Given the description of an element on the screen output the (x, y) to click on. 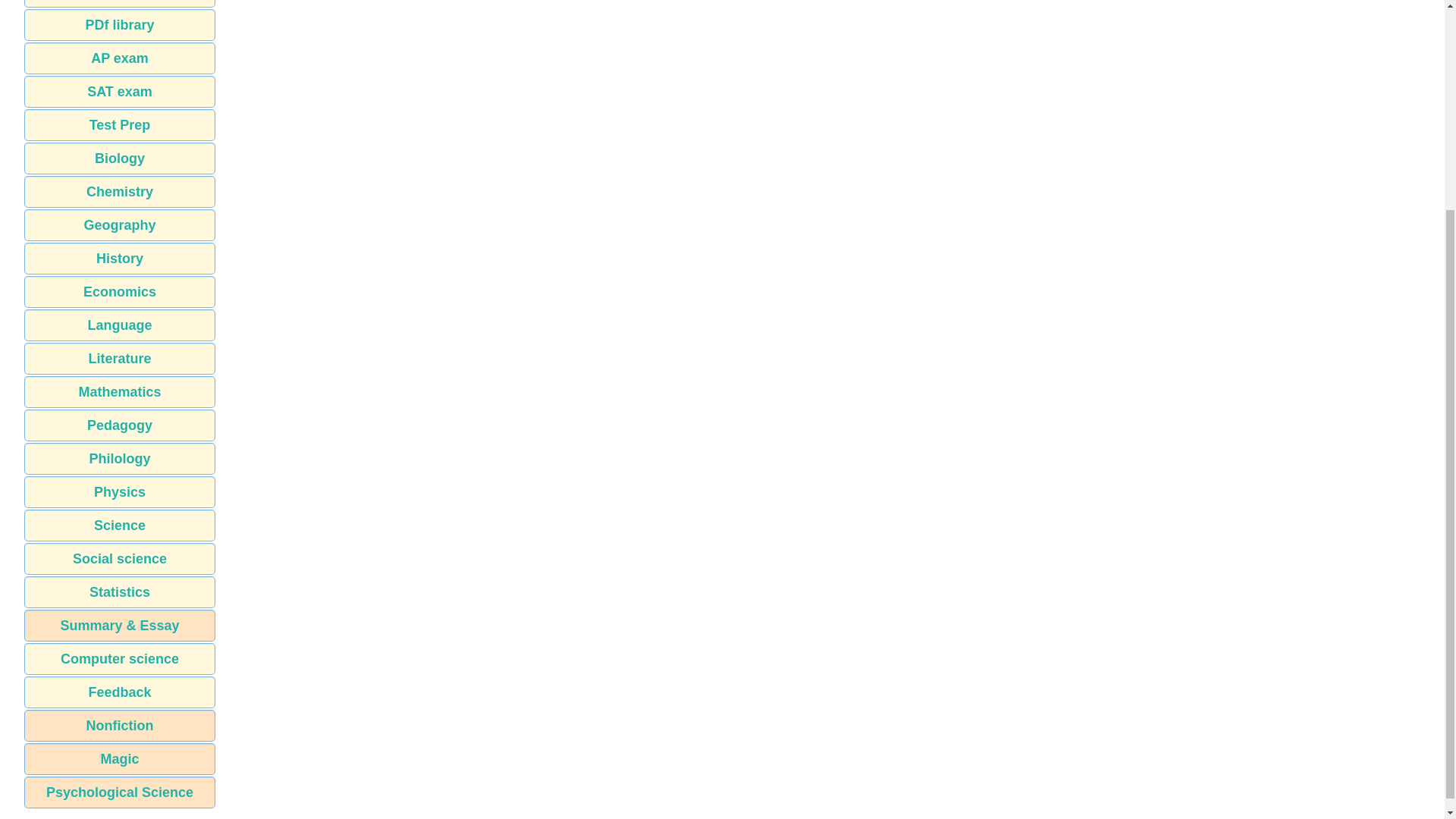
Mathematics (119, 391)
Pedagogy (119, 425)
Psychological Science (119, 792)
Main page (119, 3)
Economics (119, 291)
Feedback (119, 692)
Philology (119, 459)
Nonfiction (119, 726)
Physics (119, 491)
Geography (119, 224)
Social science (119, 558)
Biology (119, 158)
Statistics (119, 592)
PDf library (119, 24)
Computer science (119, 658)
